Given the description of an element on the screen output the (x, y) to click on. 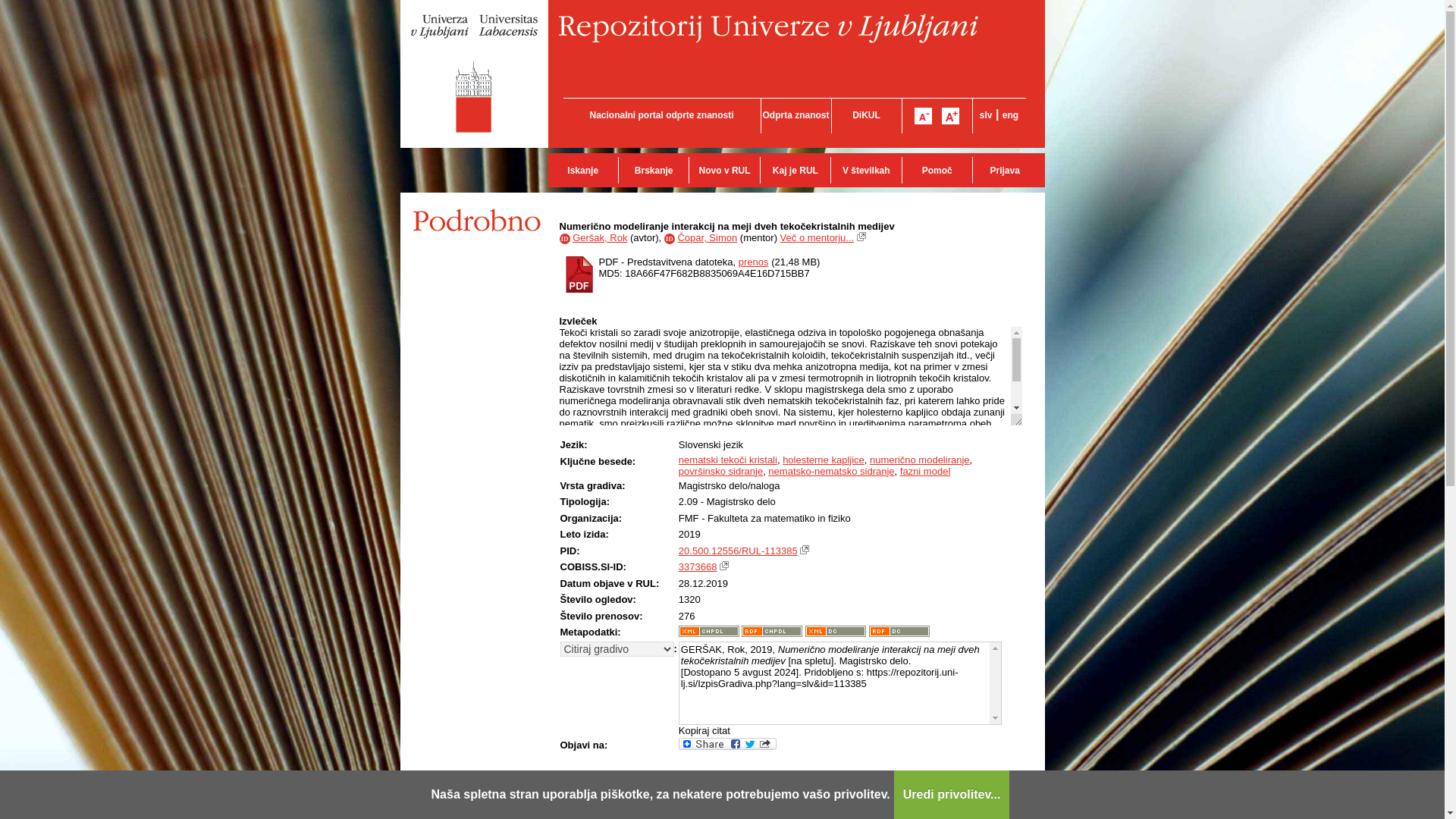
prenos (753, 261)
Slovensko (985, 114)
Prijava (1004, 170)
Nacionalni portal odprte znanosti (661, 114)
Povezava se odpre v novem oknu (861, 235)
eng (1010, 114)
Odprta znanost (794, 114)
Brskanje (652, 170)
Izvoz v DC-RDF (899, 631)
Izvoz v DC-XML (835, 631)
Povezava se odpre v novem oknu (804, 549)
nematsko-nematsko sidranje (830, 471)
Iskanje (582, 170)
Kopiraj citat (704, 730)
Odprta znanost Slovenia (794, 114)
